Given the description of an element on the screen output the (x, y) to click on. 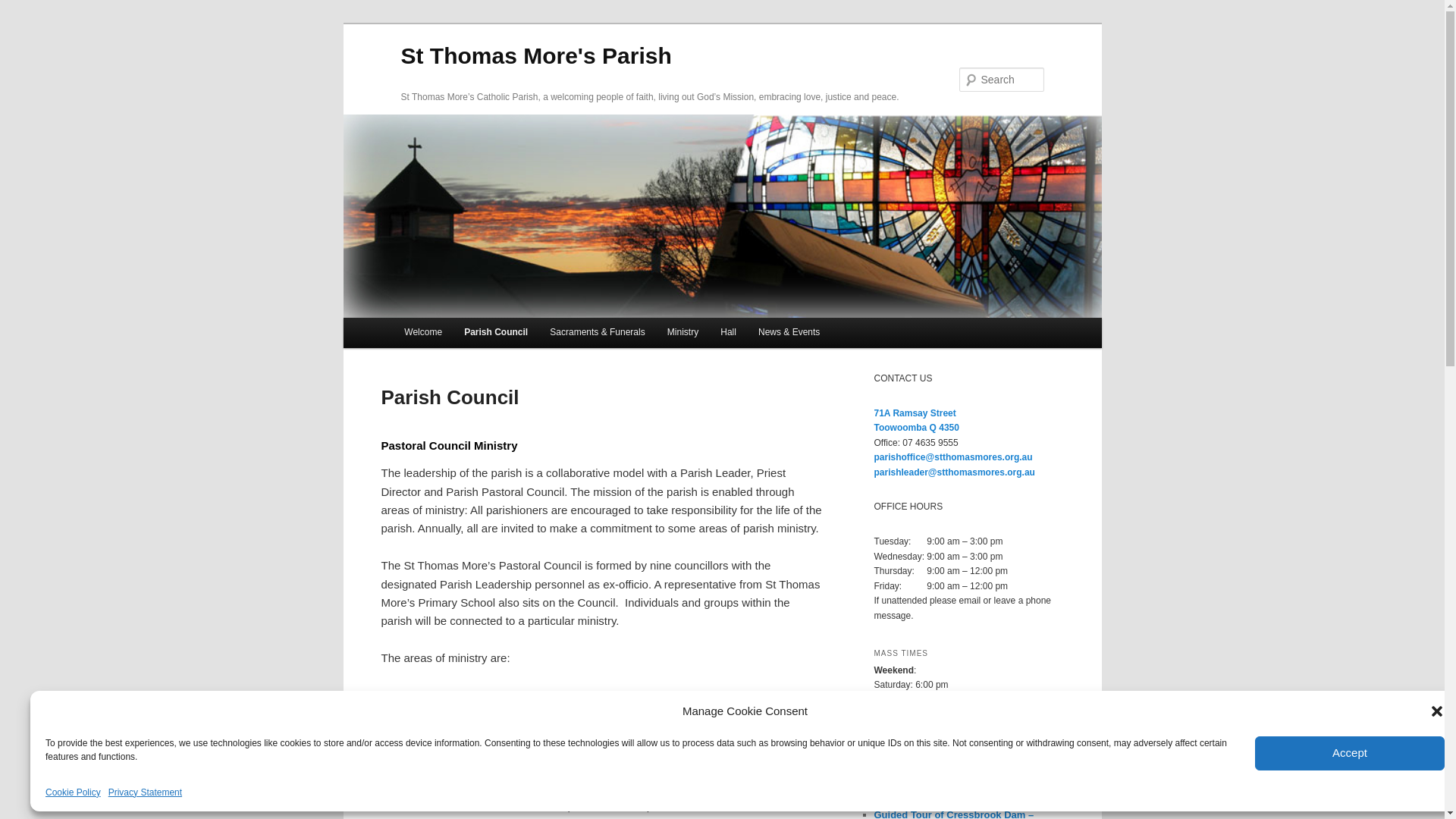
St Thomas More's Parish Element type: text (535, 55)
Privacy Statement Element type: text (145, 792)
Faith Education Element type: text (660, 694)
Communication Element type: text (501, 712)
Ministry Element type: text (682, 332)
Education Element type: text (734, 694)
Search Element type: text (24, 8)
Parish Council Element type: text (496, 332)
Outreach Element type: text (791, 694)
Welcome Element type: text (423, 332)
Cookie Policy Element type: text (72, 792)
Spirituality Element type: text (472, 694)
Hall Element type: text (728, 332)
Sacraments & Funerals Element type: text (597, 332)
Hospitality Element type: text (584, 694)
parishoffice@stthomasmores.org.au Element type: text (952, 456)
71A Ramsay Street
Toowoomba Q 4350 Element type: text (915, 420)
Skip to primary content Element type: text (22, 22)
Worship Element type: text (528, 694)
Administration Element type: text (416, 712)
Accept Element type: text (1349, 752)
parishleader@stthomasmores.org.au Element type: text (953, 472)
News & Events Element type: text (788, 332)
Leadership Element type: text (408, 694)
